Given the description of an element on the screen output the (x, y) to click on. 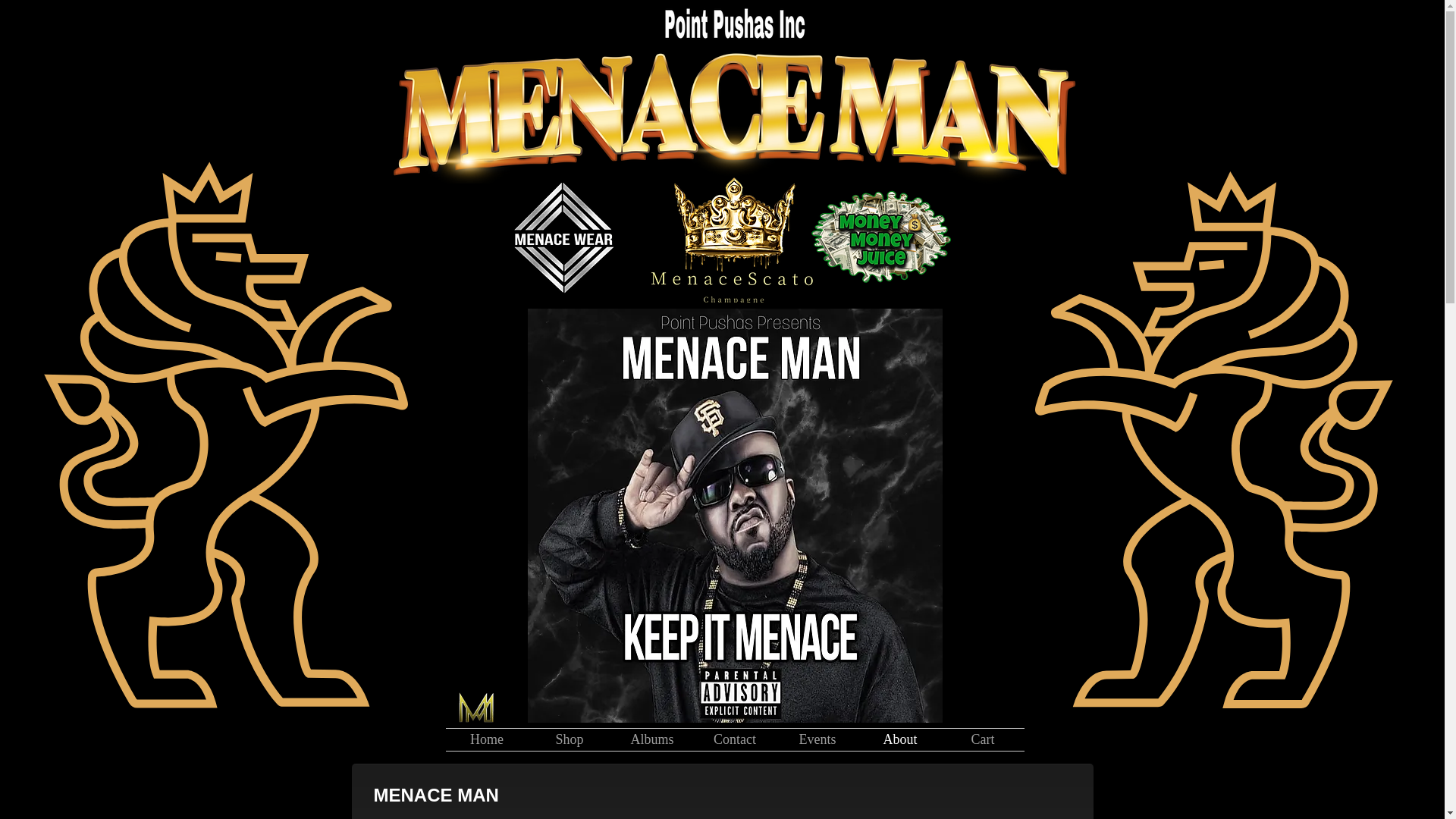
Albums (652, 739)
Contact (734, 739)
About (899, 739)
Home (486, 739)
Cart (983, 739)
Events (817, 739)
Shop (568, 739)
